Given the description of an element on the screen output the (x, y) to click on. 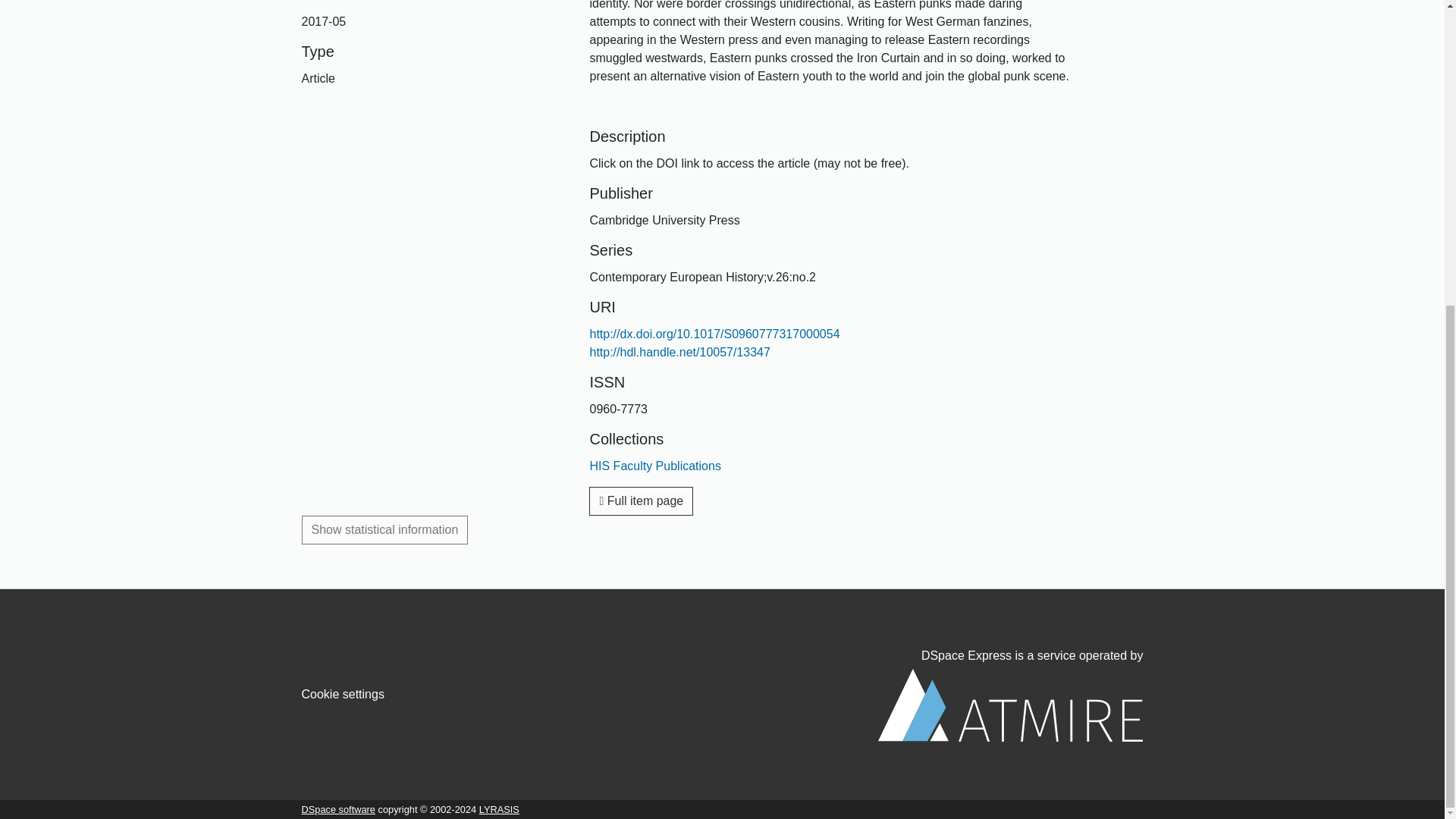
LYRASIS (499, 808)
Full item page (641, 500)
Show statistical information (384, 529)
DSpace Express is a service operated by (1009, 695)
Cookie settings (342, 694)
DSpace software (338, 808)
HIS Faculty Publications (654, 465)
